Given the description of an element on the screen output the (x, y) to click on. 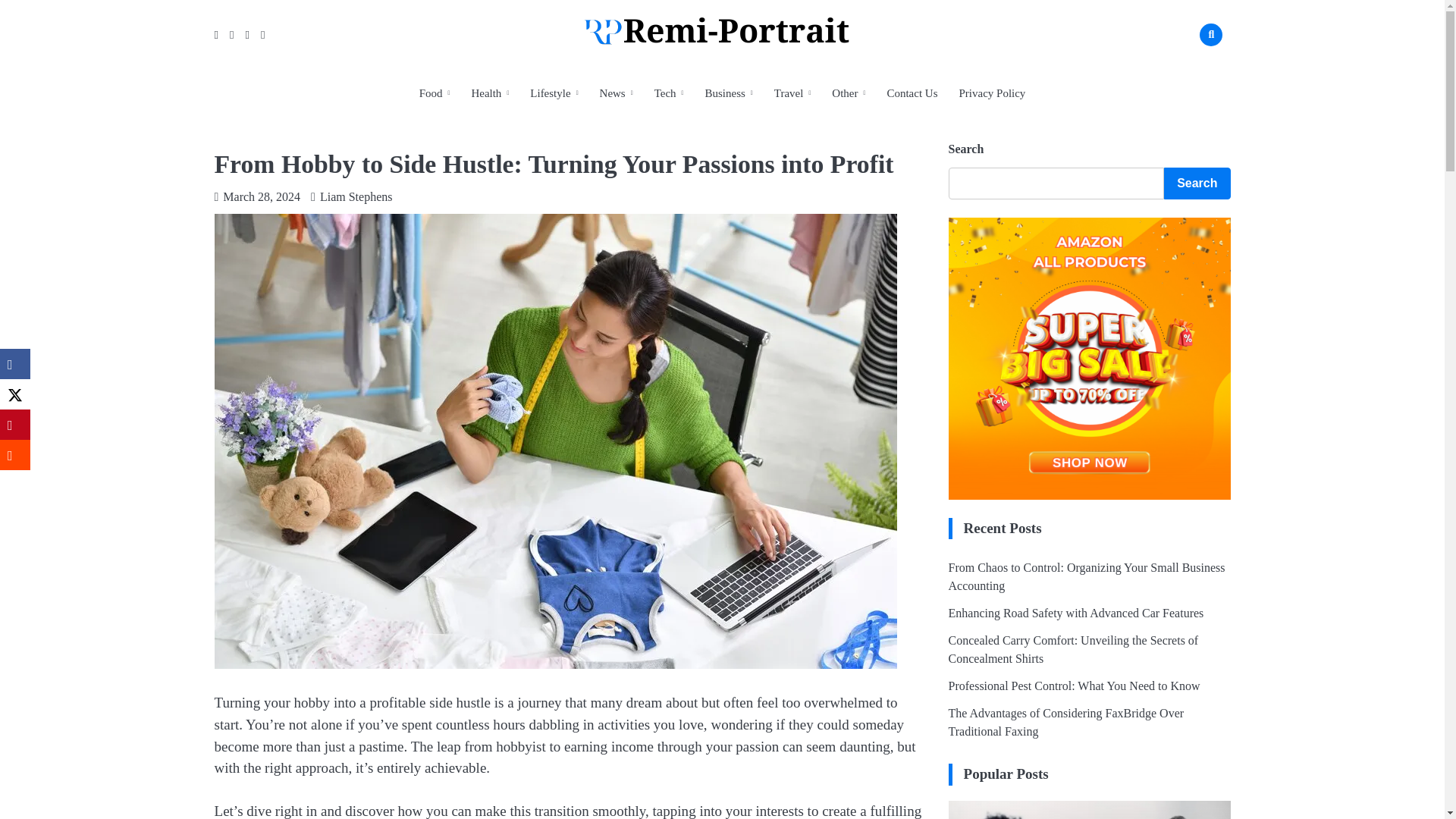
Health (489, 92)
Search (1187, 69)
News (616, 92)
Travel (792, 92)
Lifestyle (553, 92)
Food (435, 92)
Business (728, 92)
Tech (668, 92)
